Given the description of an element on the screen output the (x, y) to click on. 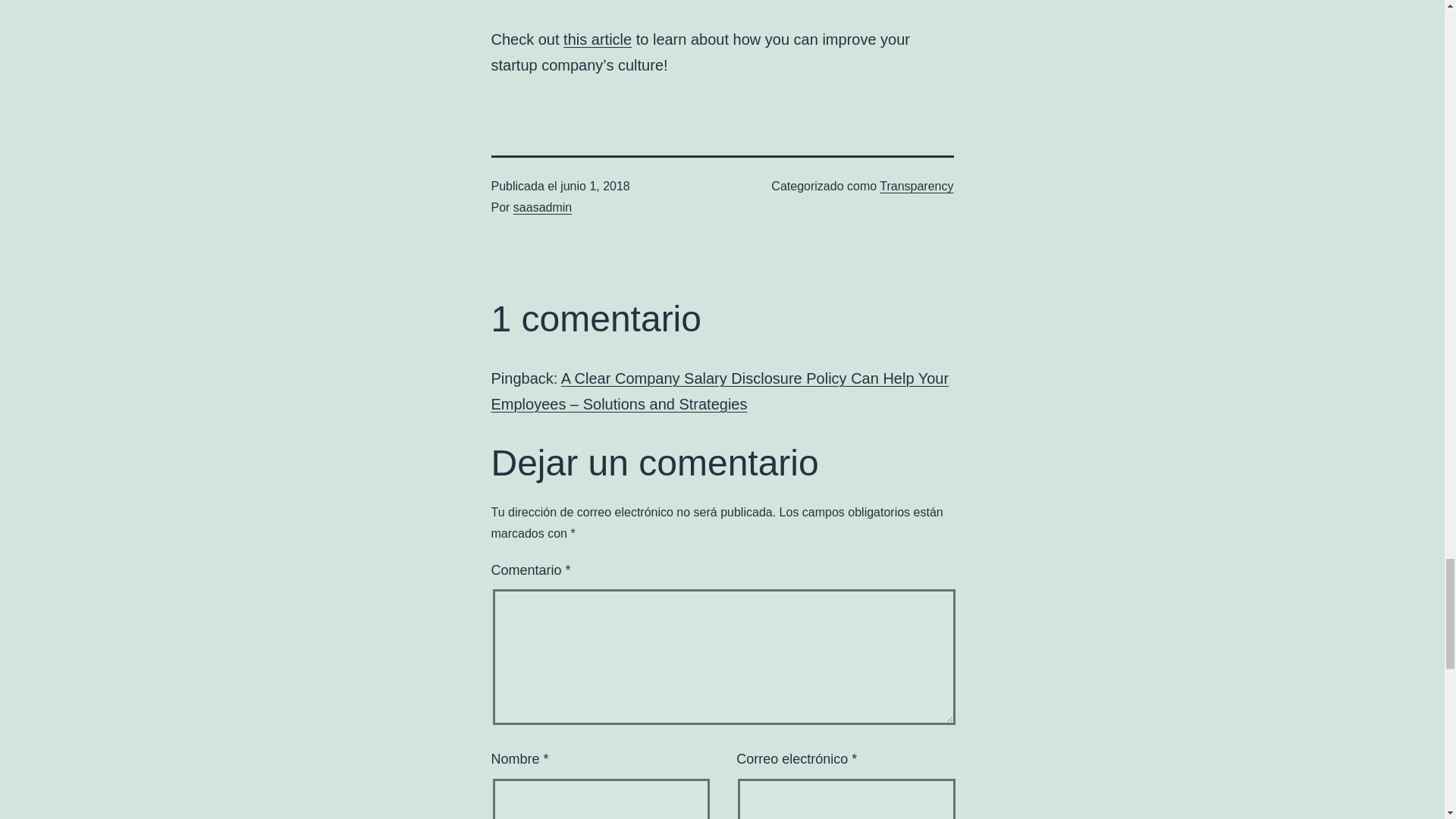
saasadmin (542, 206)
this article (597, 39)
Transparency (916, 185)
